Given the description of an element on the screen output the (x, y) to click on. 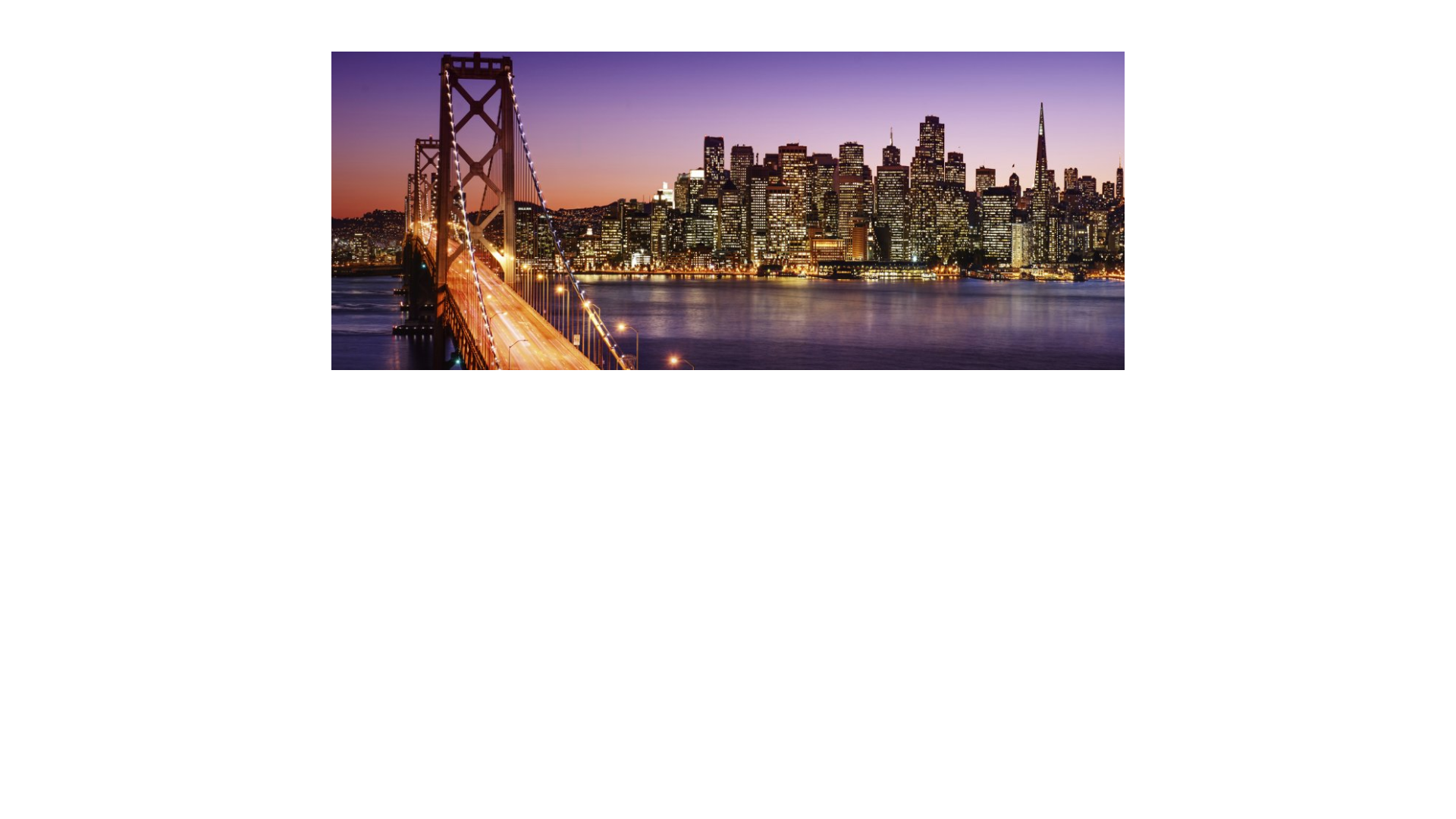
Customer Service (1193, 25)
FAQs (1289, 25)
Your Reservation (1382, 25)
